Given the description of an element on the screen output the (x, y) to click on. 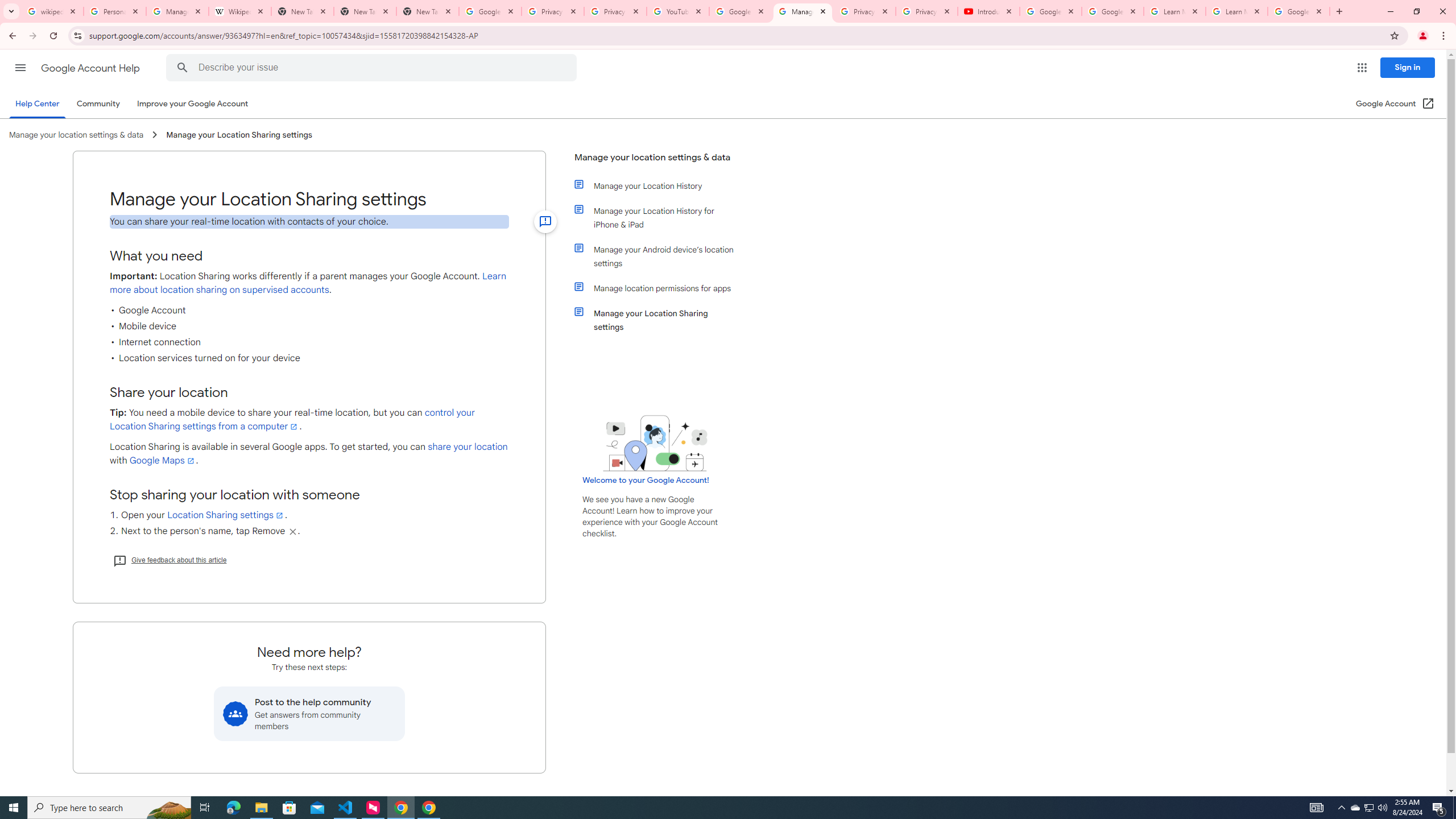
Manage your Location History for iPhone & iPad (661, 217)
Community (97, 103)
Manage your Location History (661, 185)
